Given the description of an element on the screen output the (x, y) to click on. 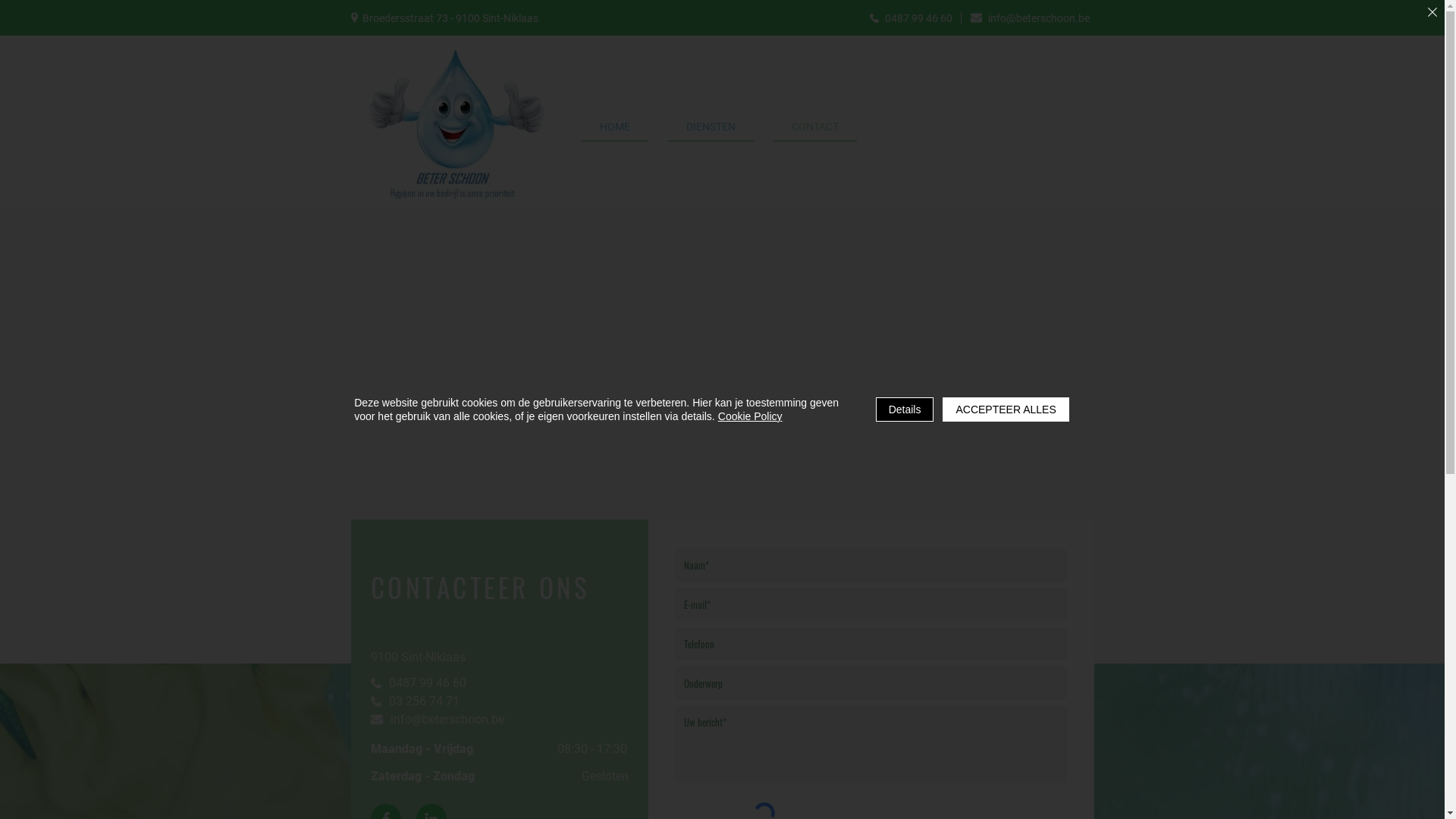
info@beterschoon.be Element type: text (442, 718)
DIENSTEN Element type: text (710, 126)
0487 99 46 60 Element type: text (442, 682)
ACCEPTEER ALLES Element type: text (1005, 409)
Cookie Policy Element type: text (750, 416)
Details Element type: text (904, 409)
CONTACT Element type: text (814, 126)
0487 99 46 60 Element type: text (910, 17)
Google Maps Element type: hover (722, 435)
HOME Element type: text (613, 126)
03 256 74 71 Element type: text (442, 700)
info@beterschoon.be Element type: text (1029, 17)
